Given the description of an element on the screen output the (x, y) to click on. 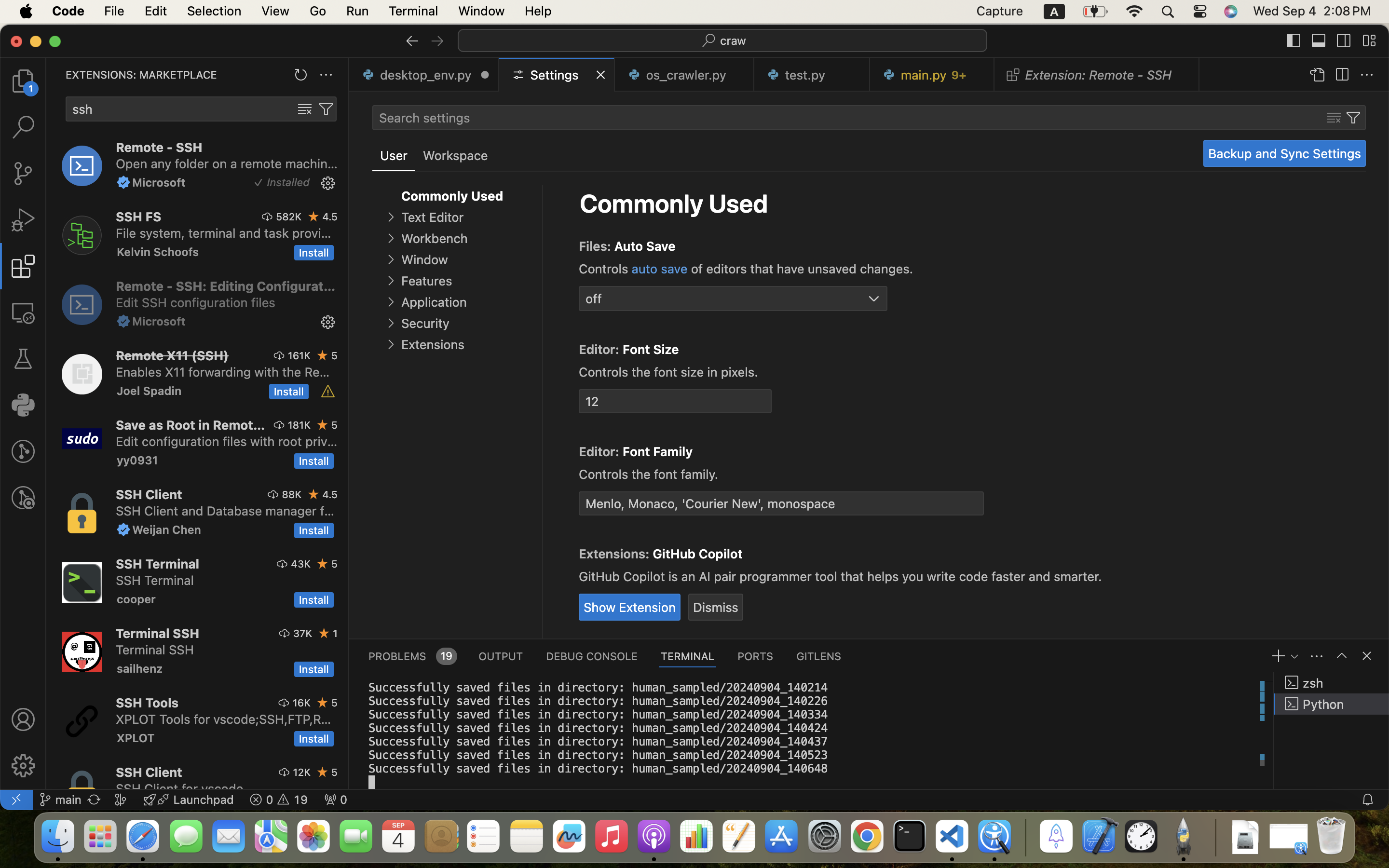
Font Size Element type: AXStaticText (650, 349)
0  Element type: AXRadioButton (23, 451)
sailhenz Element type: AXStaticText (139, 668)
 Element type: AXStaticText (313, 216)
 Element type: AXGroup (23, 312)
